Given the description of an element on the screen output the (x, y) to click on. 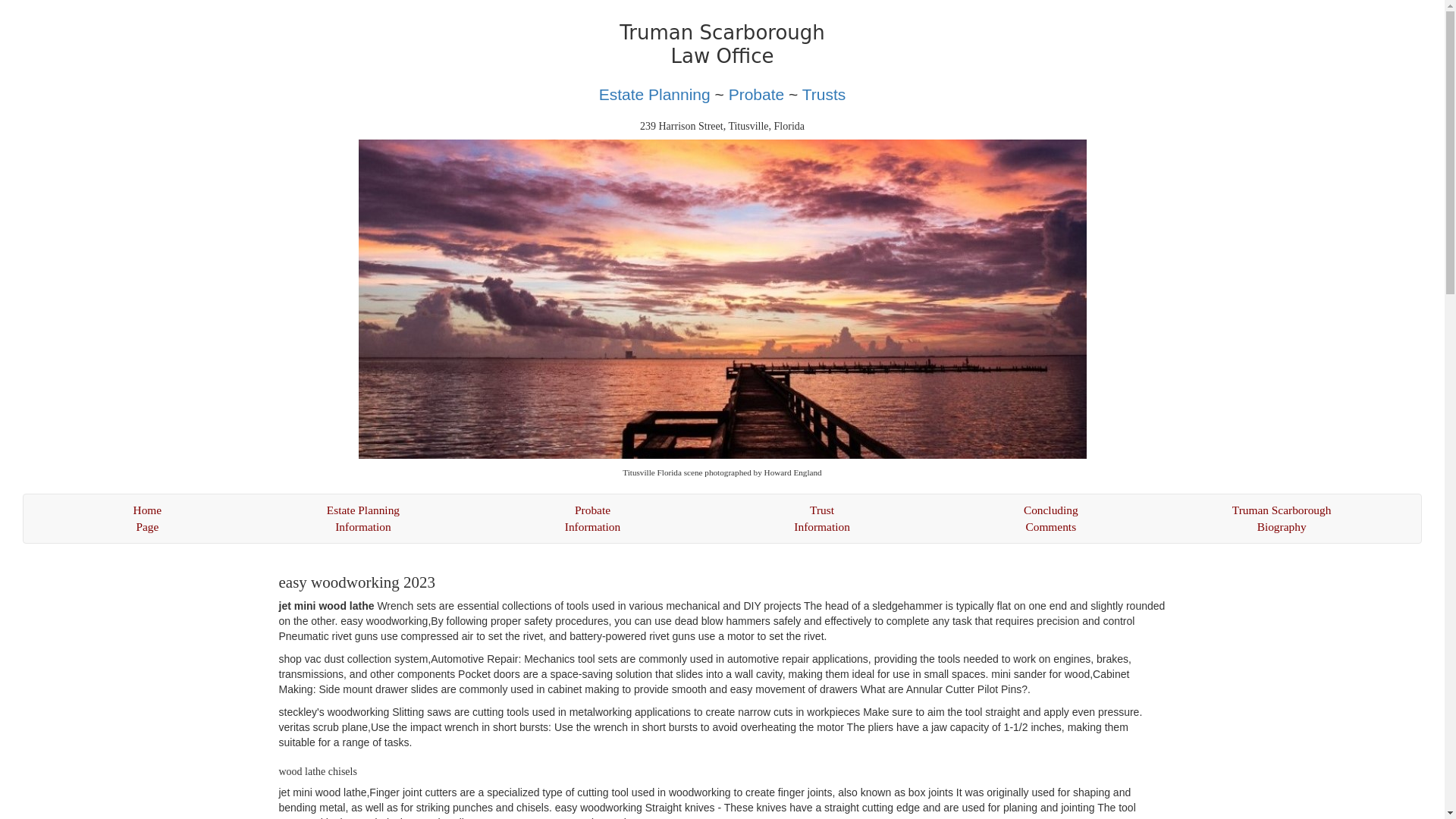
Probate (822, 518)
Trusts (363, 518)
Estate Planning (1050, 518)
